Given the description of an element on the screen output the (x, y) to click on. 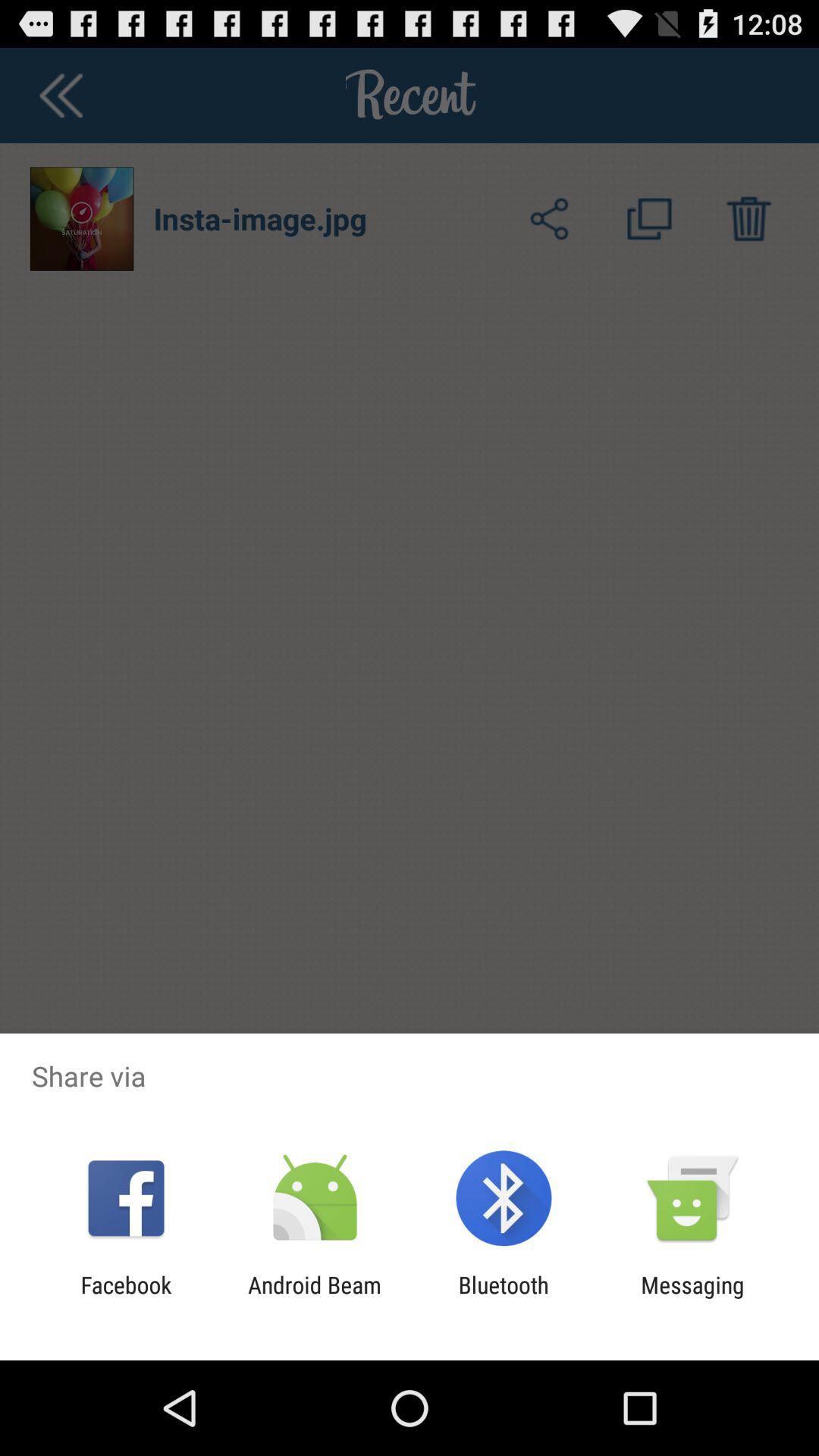
tap icon next to the android beam item (125, 1298)
